Given the description of an element on the screen output the (x, y) to click on. 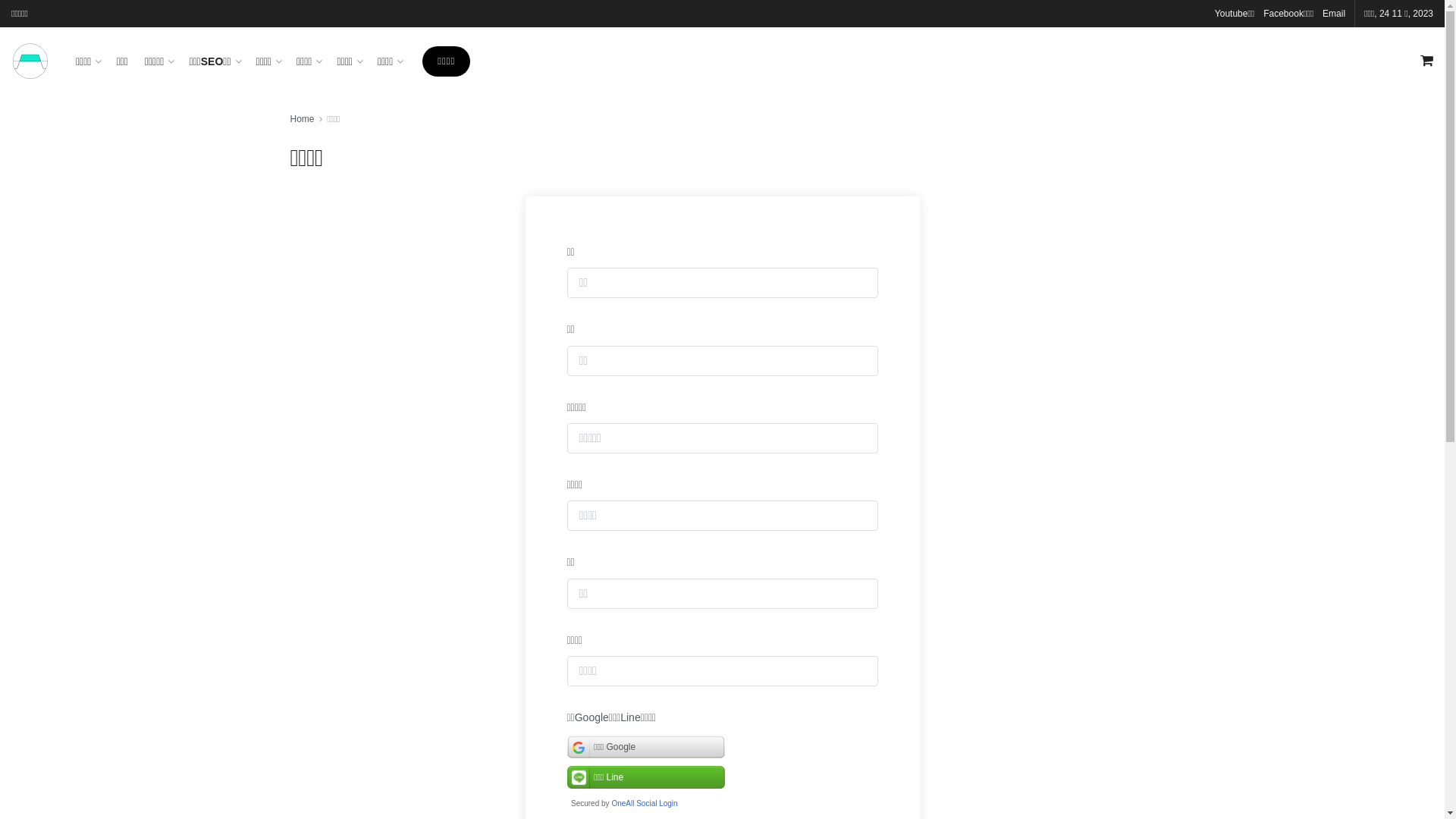
Login with Social Networks Element type: hover (722, 771)
Home Element type: text (301, 118)
Email Element type: text (1333, 13)
